Given the description of an element on the screen output the (x, y) to click on. 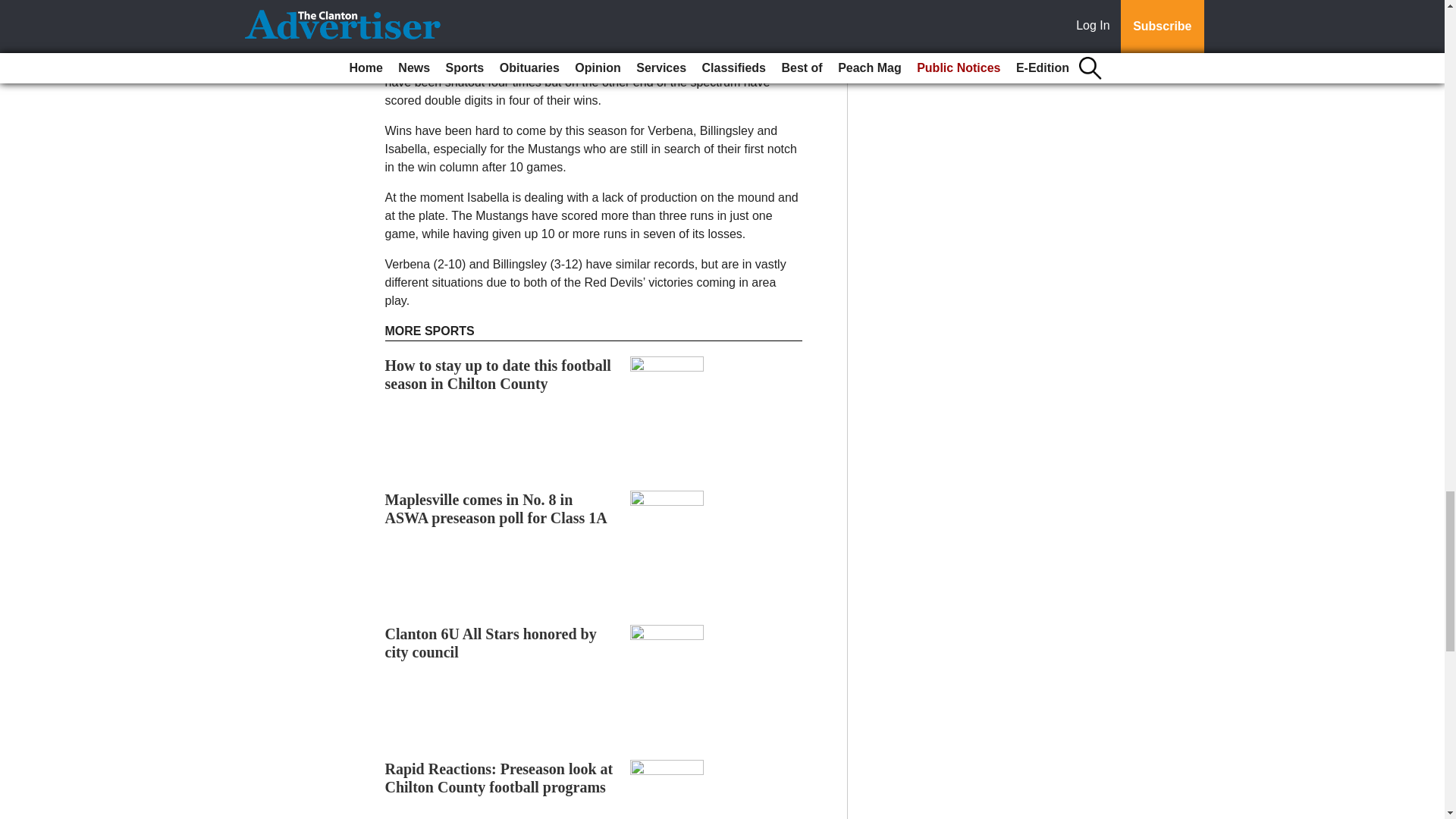
Clanton 6U All Stars honored by city council (490, 642)
Clanton 6U All Stars honored by city council (490, 642)
